Given the description of an element on the screen output the (x, y) to click on. 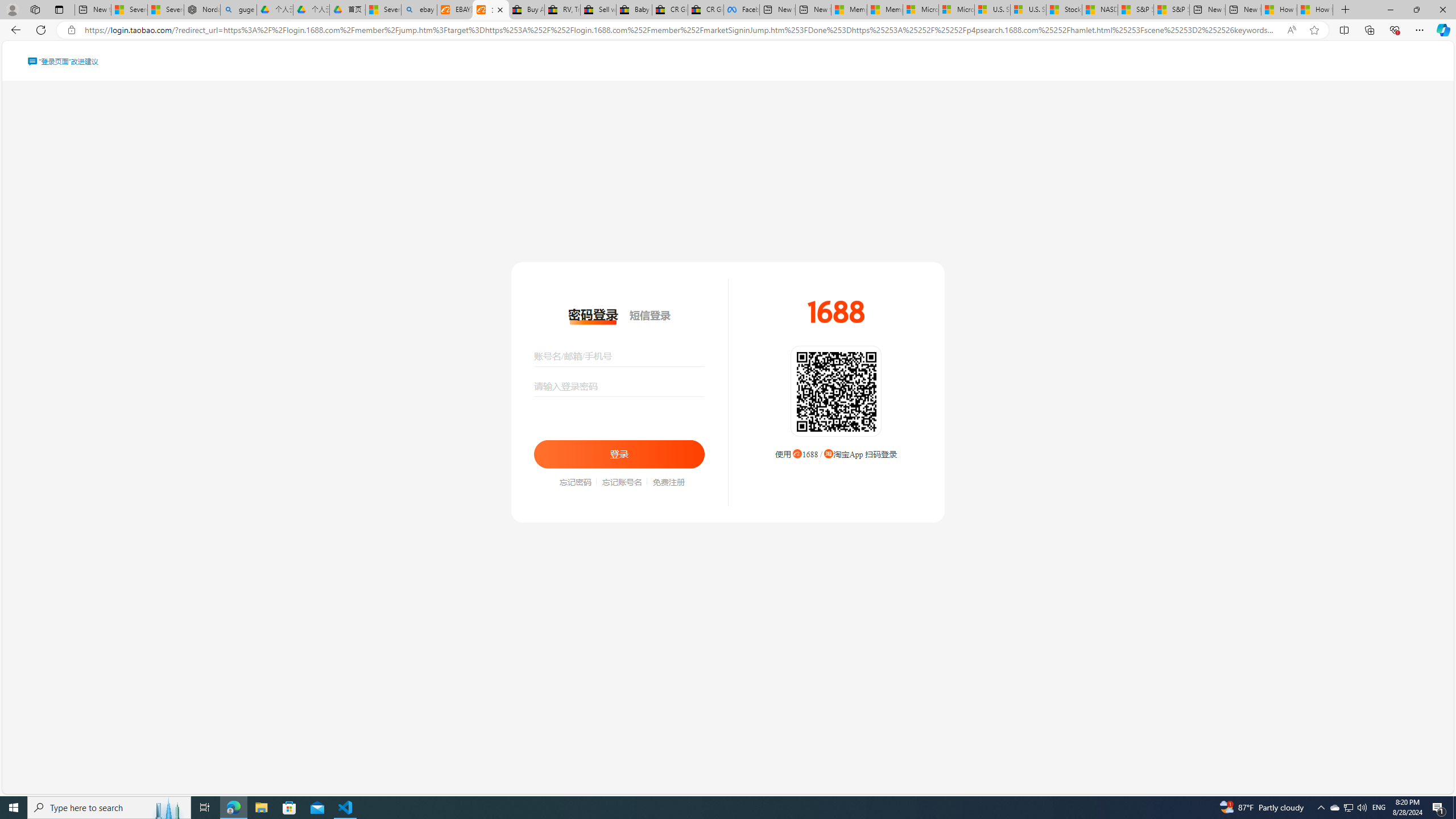
View site information (70, 29)
Sell worldwide with eBay (598, 9)
guge yunpan - Search (238, 9)
